Given the description of an element on the screen output the (x, y) to click on. 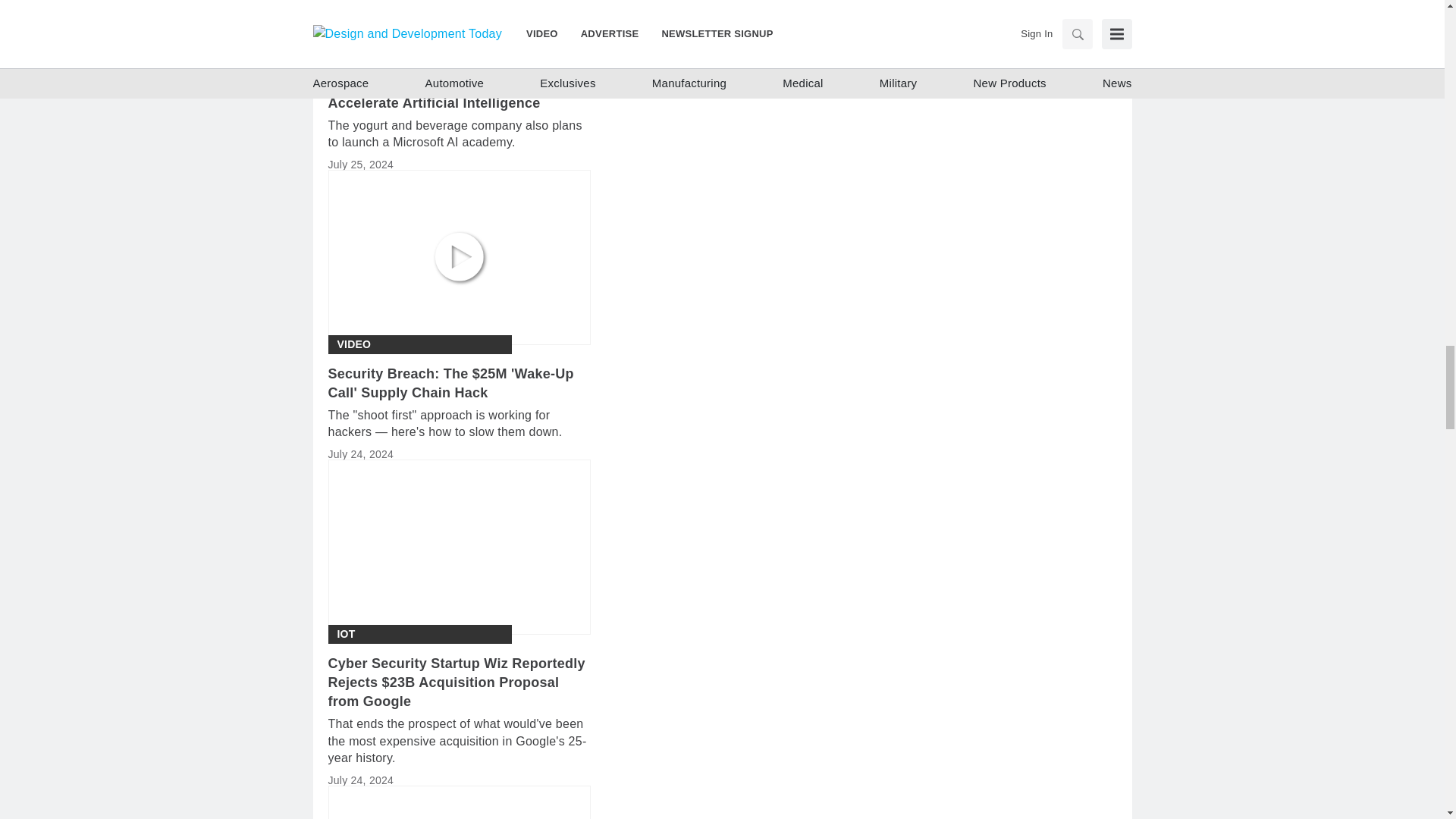
Video (353, 344)
